Given the description of an element on the screen output the (x, y) to click on. 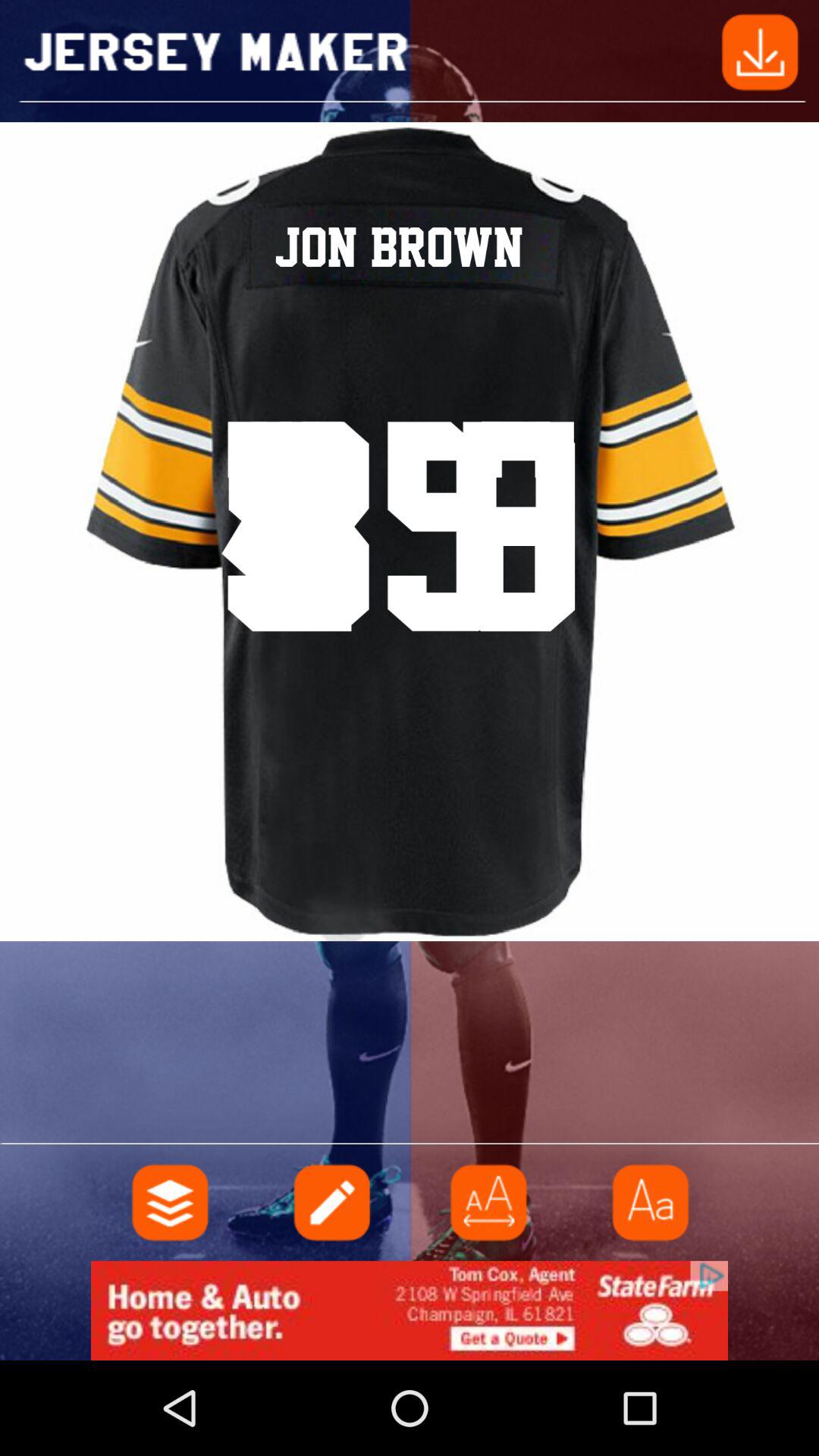
personalization button (170, 1202)
